Given the description of an element on the screen output the (x, y) to click on. 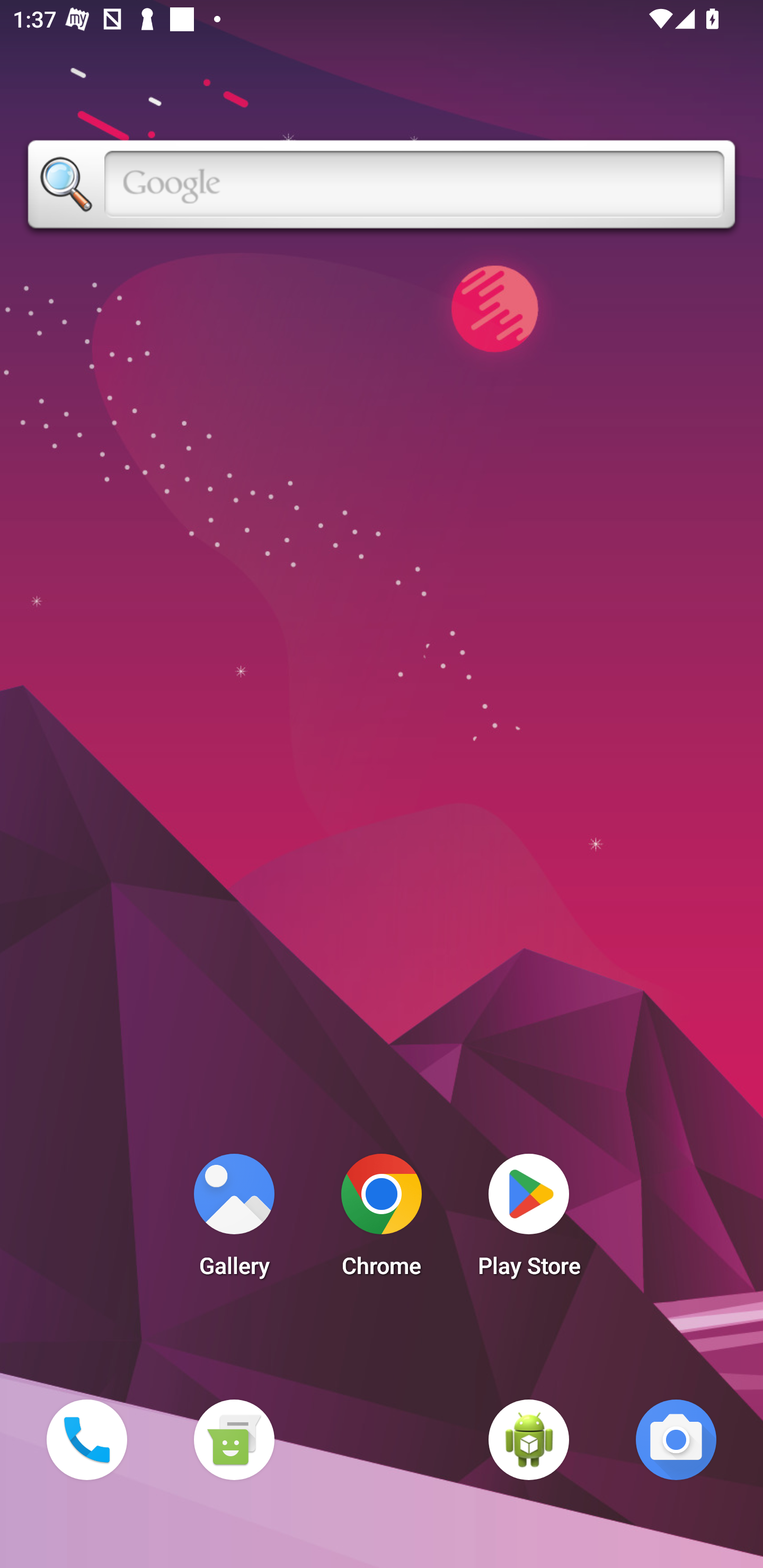
Gallery (233, 1220)
Chrome (381, 1220)
Play Store (528, 1220)
Phone (86, 1439)
Messaging (233, 1439)
WebView Browser Tester (528, 1439)
Camera (676, 1439)
